Given the description of an element on the screen output the (x, y) to click on. 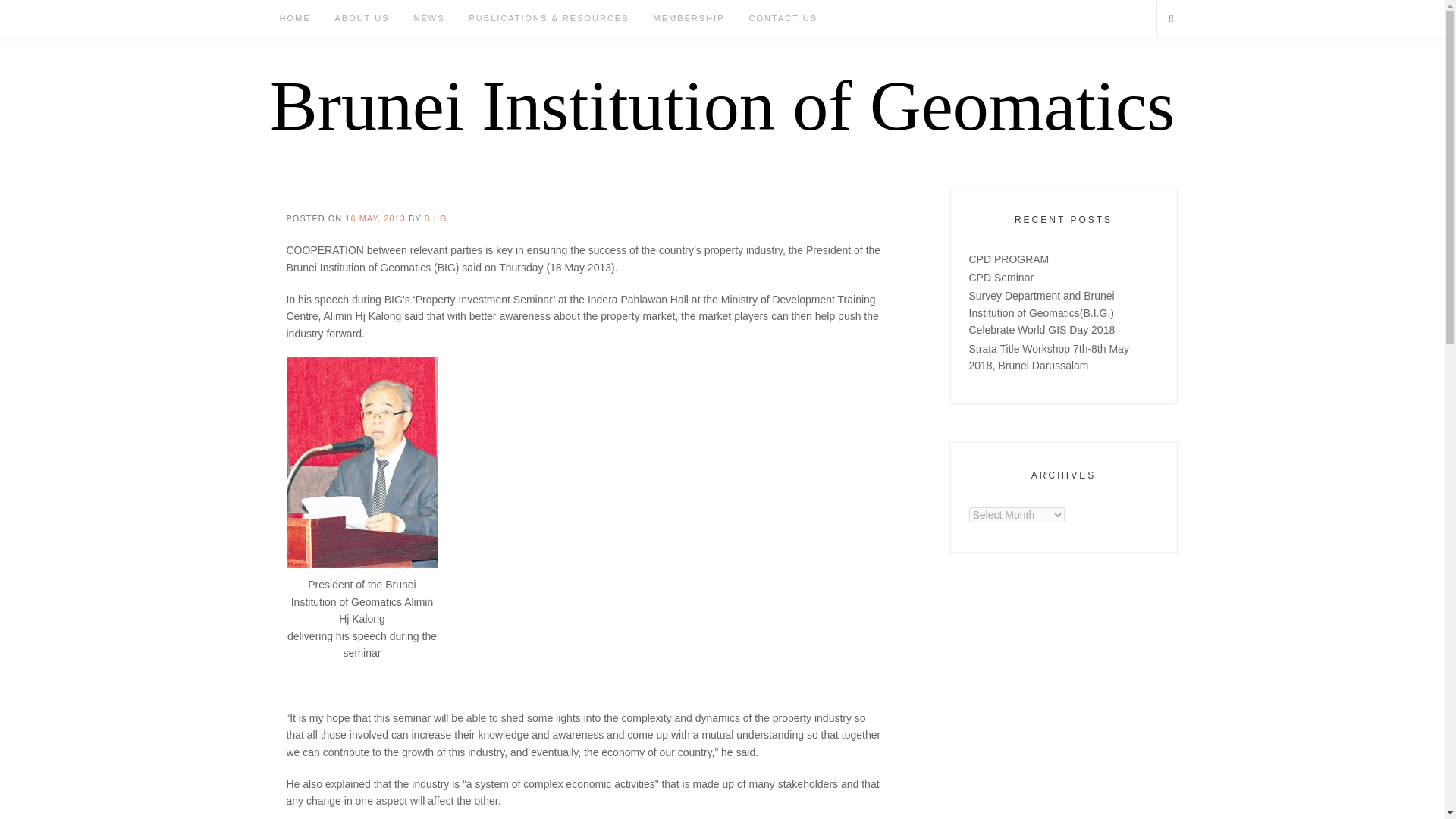
ABOUT US (362, 19)
B.I.G. (436, 217)
CONTACT US (782, 19)
Strata Title Workshop 7th-8th May 2018, Brunei Darussalam (1049, 357)
CPD PROGRAM (1009, 259)
Brunei Institution of Geomatics (721, 104)
CPD Seminar (1001, 277)
NEWS (429, 19)
MEMBERSHIP (689, 19)
16 MAY, 2013 (374, 217)
HOME (293, 19)
Brunei Institution of Geomatics (721, 104)
